Given the description of an element on the screen output the (x, y) to click on. 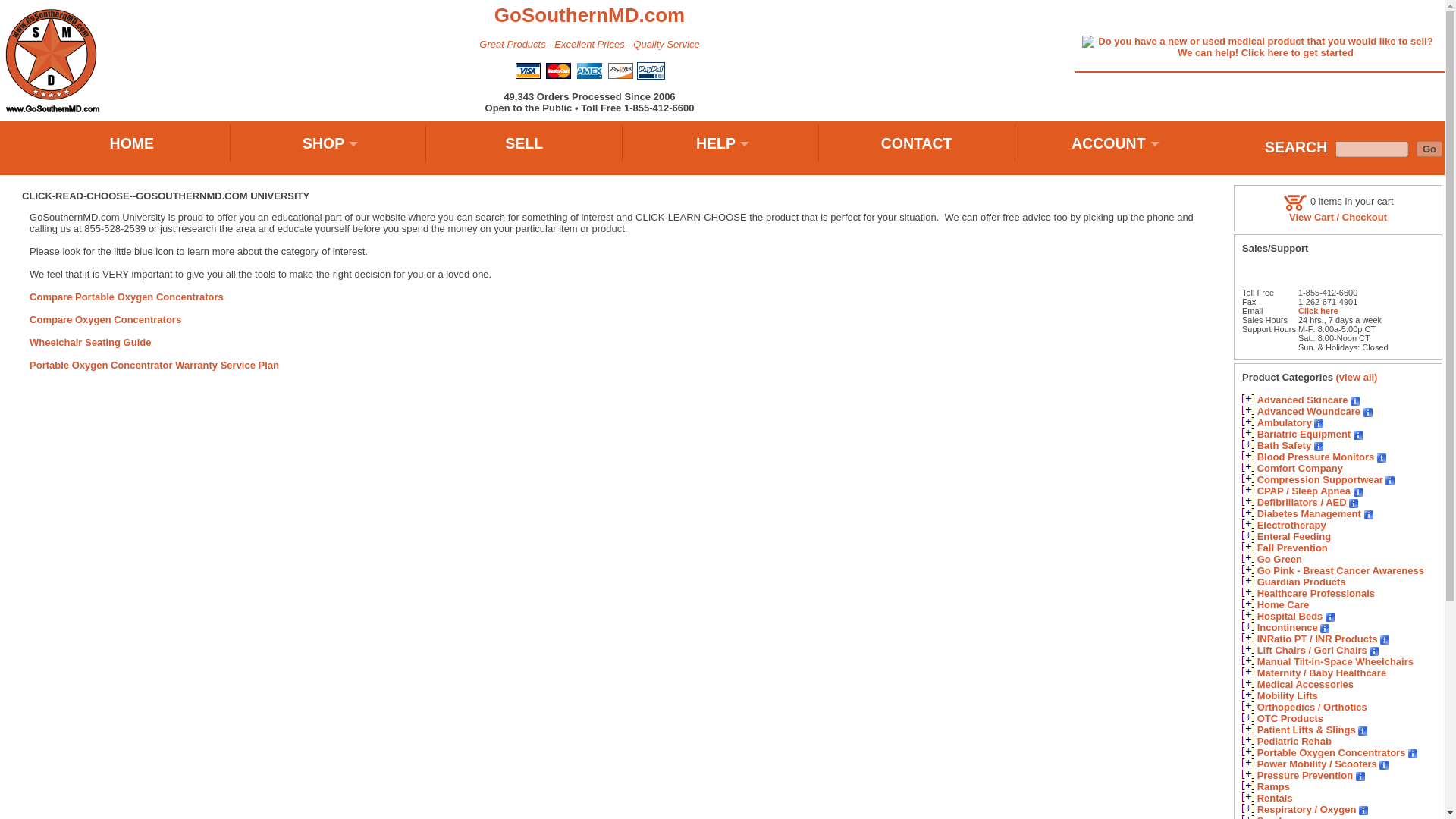
Learn more about advanced skincare (1355, 400)
HOME (131, 142)
Go (1429, 148)
SHOP (328, 142)
HELP (720, 142)
Learn more about bath safety (1318, 446)
Learn more about ambulatory (1318, 423)
SELL (524, 142)
Learn more about advanced woundcare (1367, 411)
